Given the description of an element on the screen output the (x, y) to click on. 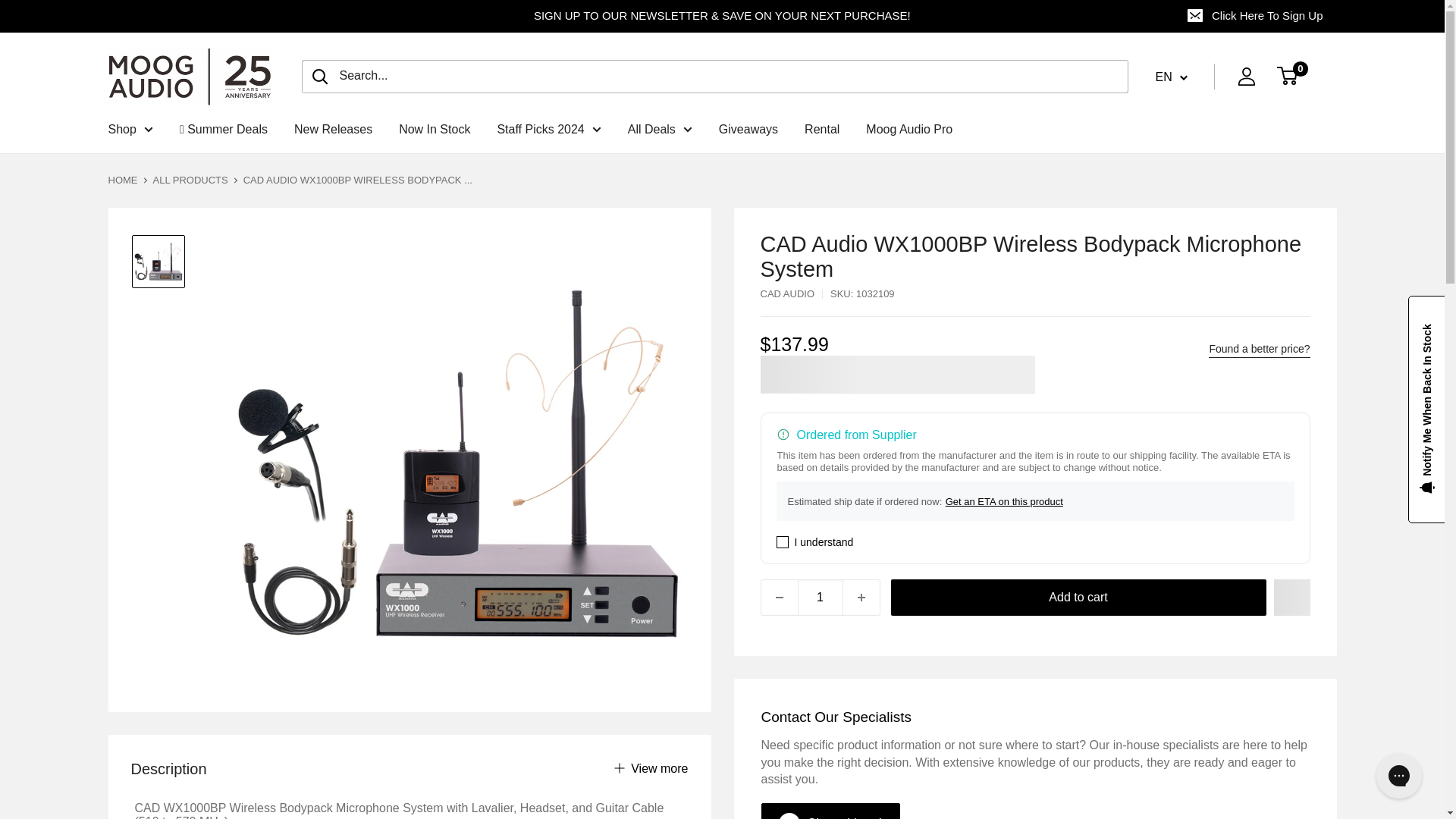
on (782, 541)
Gorgias live chat messenger (1398, 775)
Increase quantity by 1 (861, 597)
Click Here To Sign Up (1256, 15)
Decrease quantity by 1 (779, 597)
1 (820, 597)
